Given the description of an element on the screen output the (x, y) to click on. 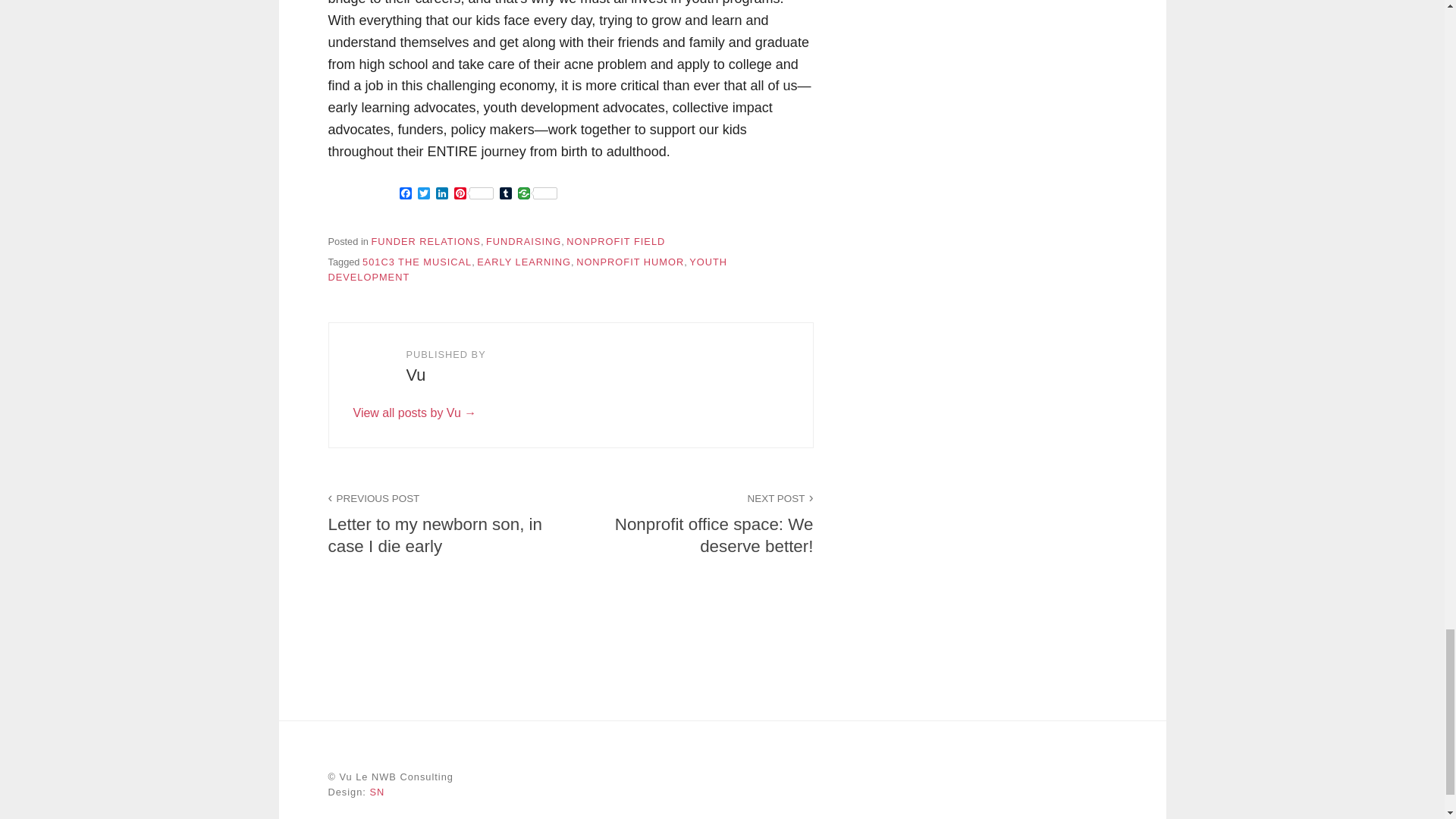
Facebook (404, 194)
Twitter (422, 194)
Pinterest (472, 194)
LinkedIn (440, 194)
Tumblr (504, 194)
